Given the description of an element on the screen output the (x, y) to click on. 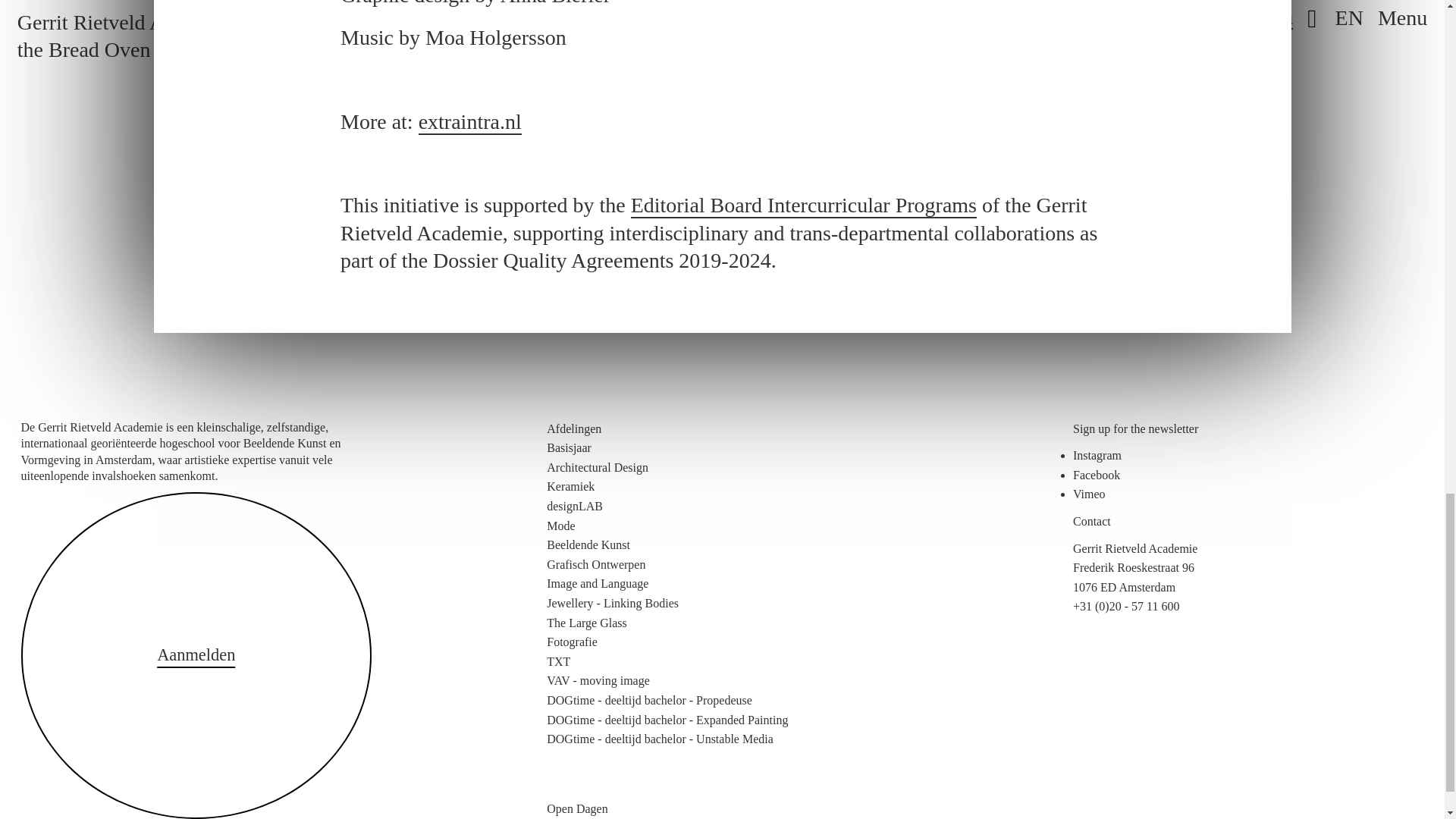
Intercurricular Programs (803, 205)
